Given the description of an element on the screen output the (x, y) to click on. 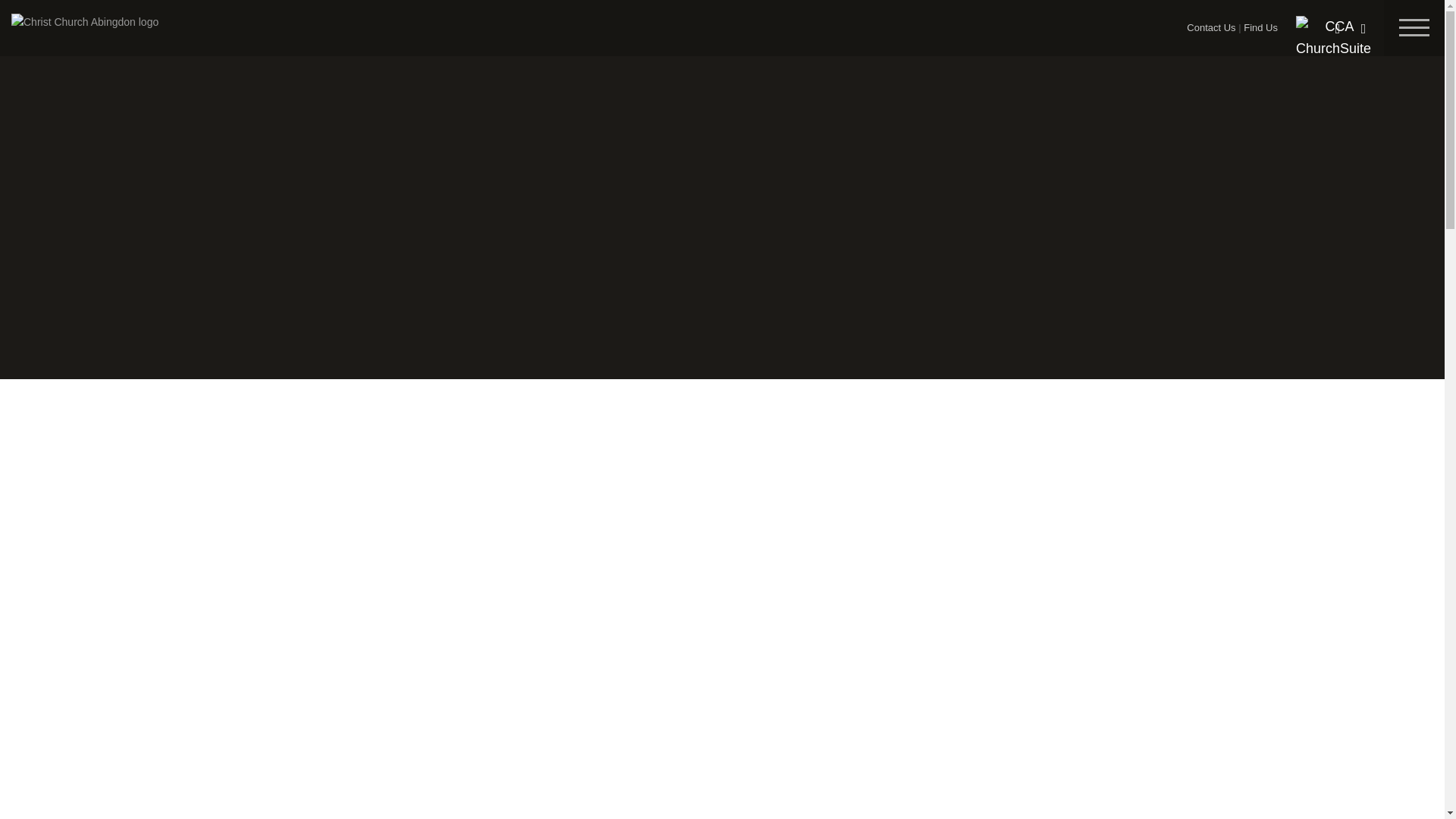
CCA ChurchSuite (1333, 37)
CCA Facebook (1363, 29)
Find Us (1260, 27)
CCA Twitter (1336, 29)
Contact Us (1210, 27)
